Given the description of an element on the screen output the (x, y) to click on. 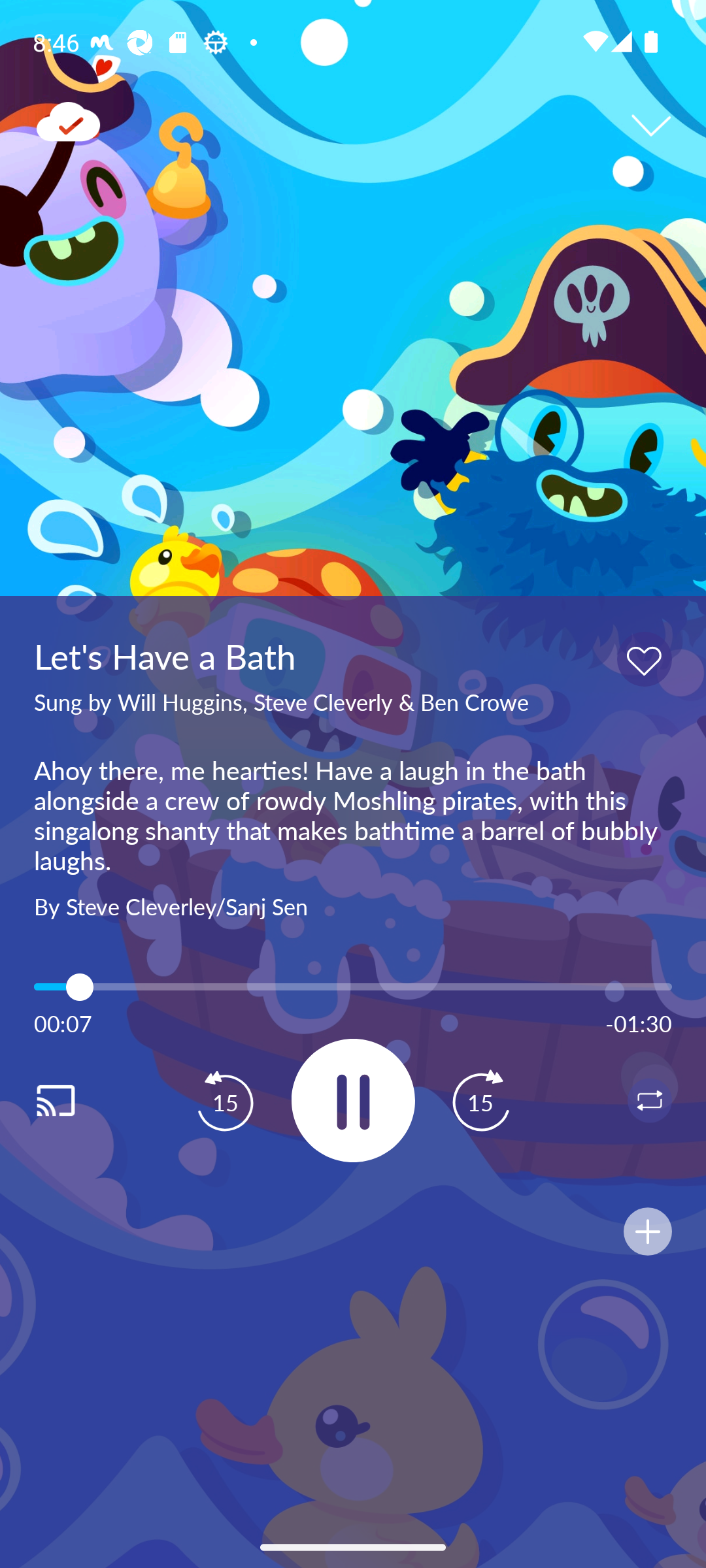
7.0 (352, 986)
Cast. Disconnected (76, 1100)
